Given the description of an element on the screen output the (x, y) to click on. 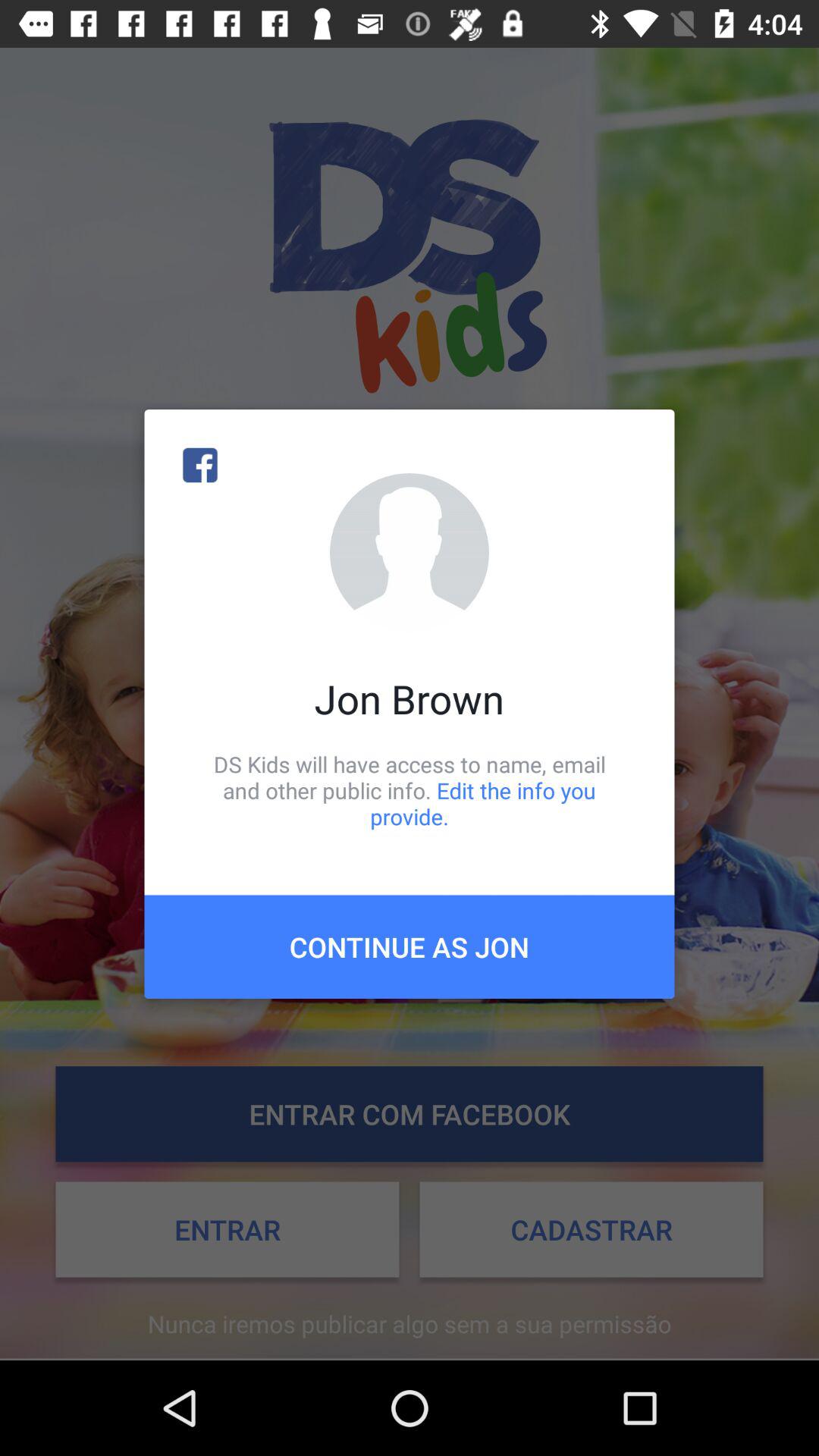
open continue as jon (409, 946)
